Given the description of an element on the screen output the (x, y) to click on. 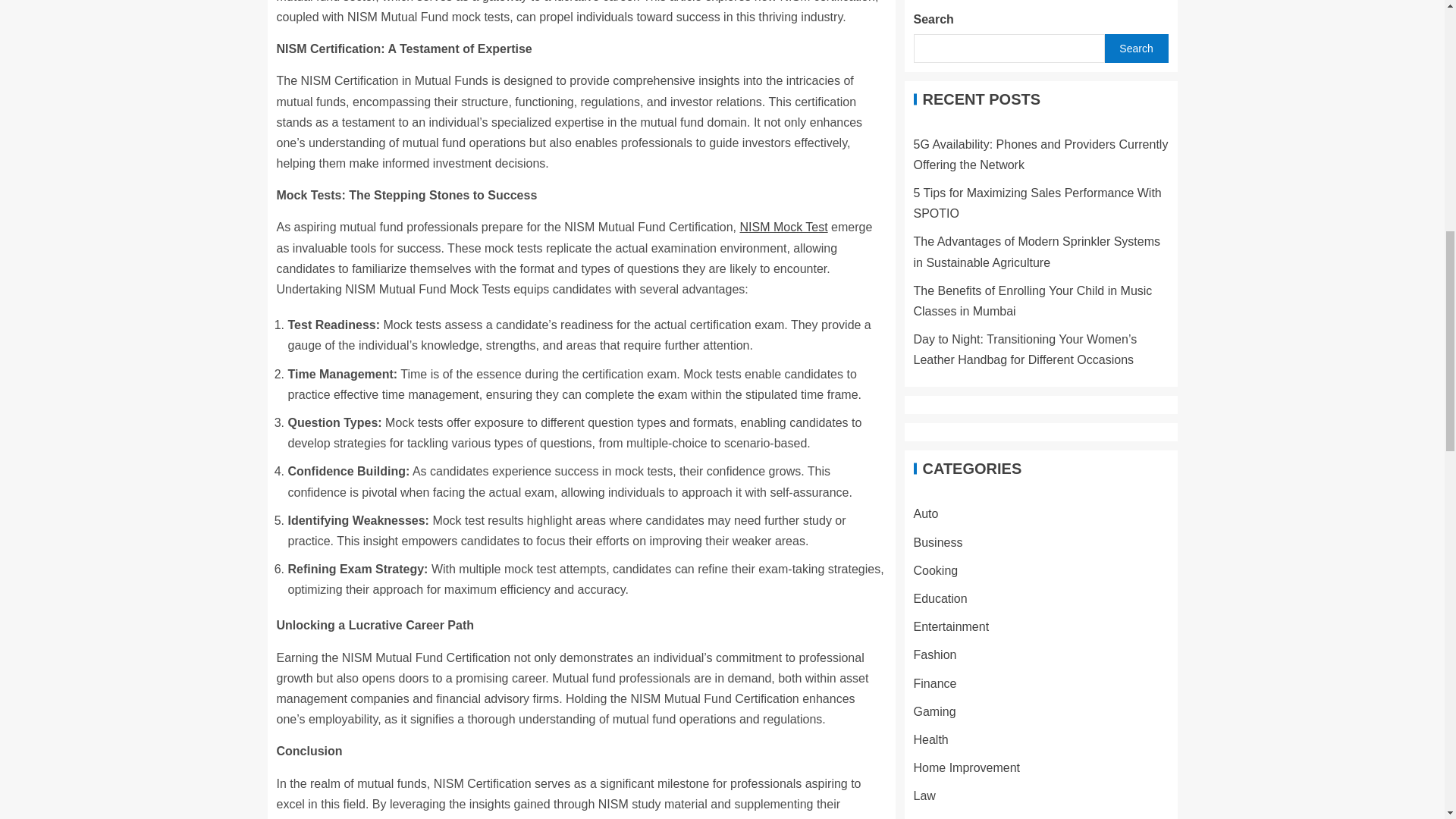
NISM Mock Test (783, 226)
